Given the description of an element on the screen output the (x, y) to click on. 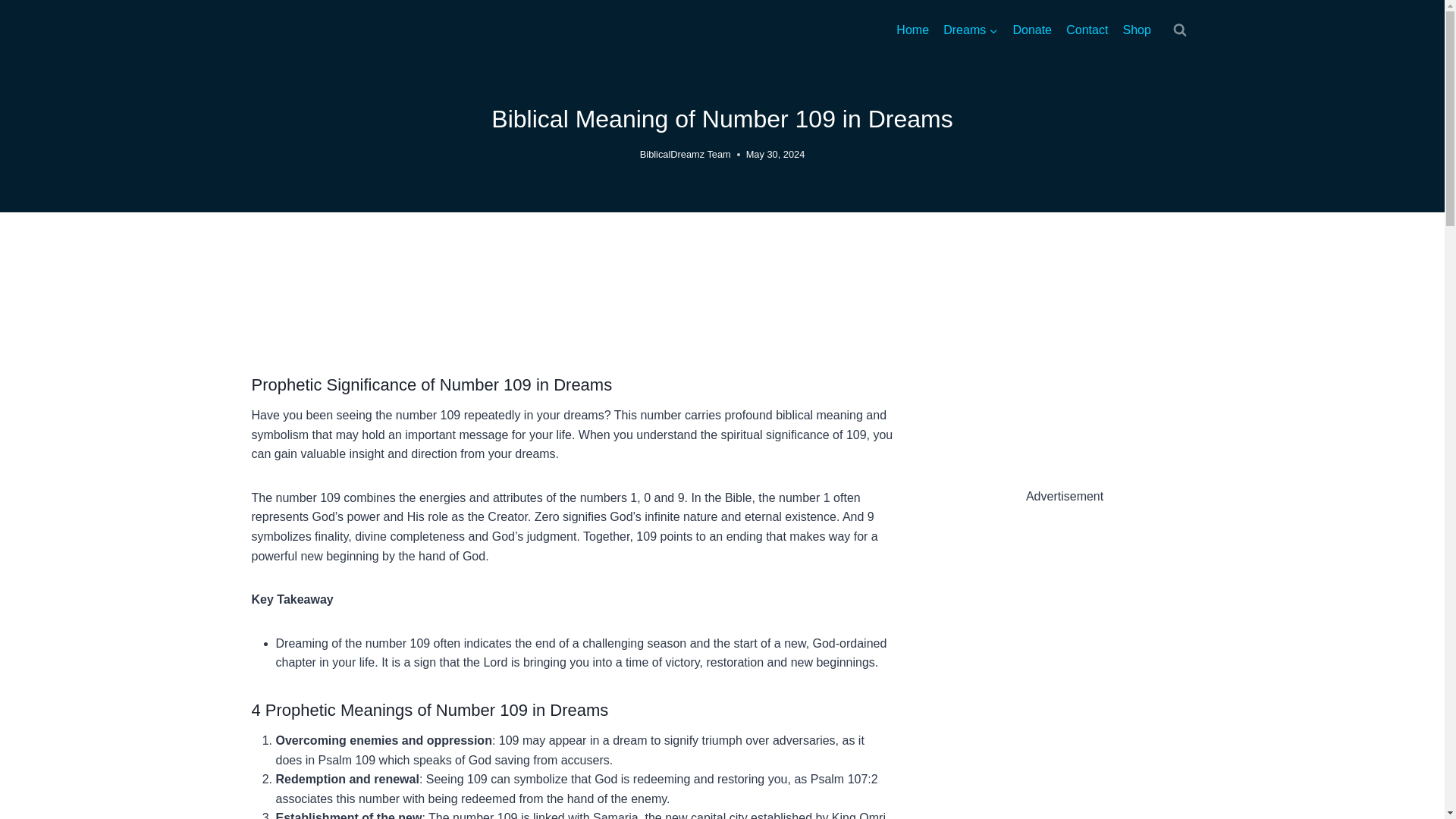
Home (912, 30)
Shop (1136, 30)
Donate (1032, 30)
Contact (1087, 30)
Dreams (971, 30)
